Given the description of an element on the screen output the (x, y) to click on. 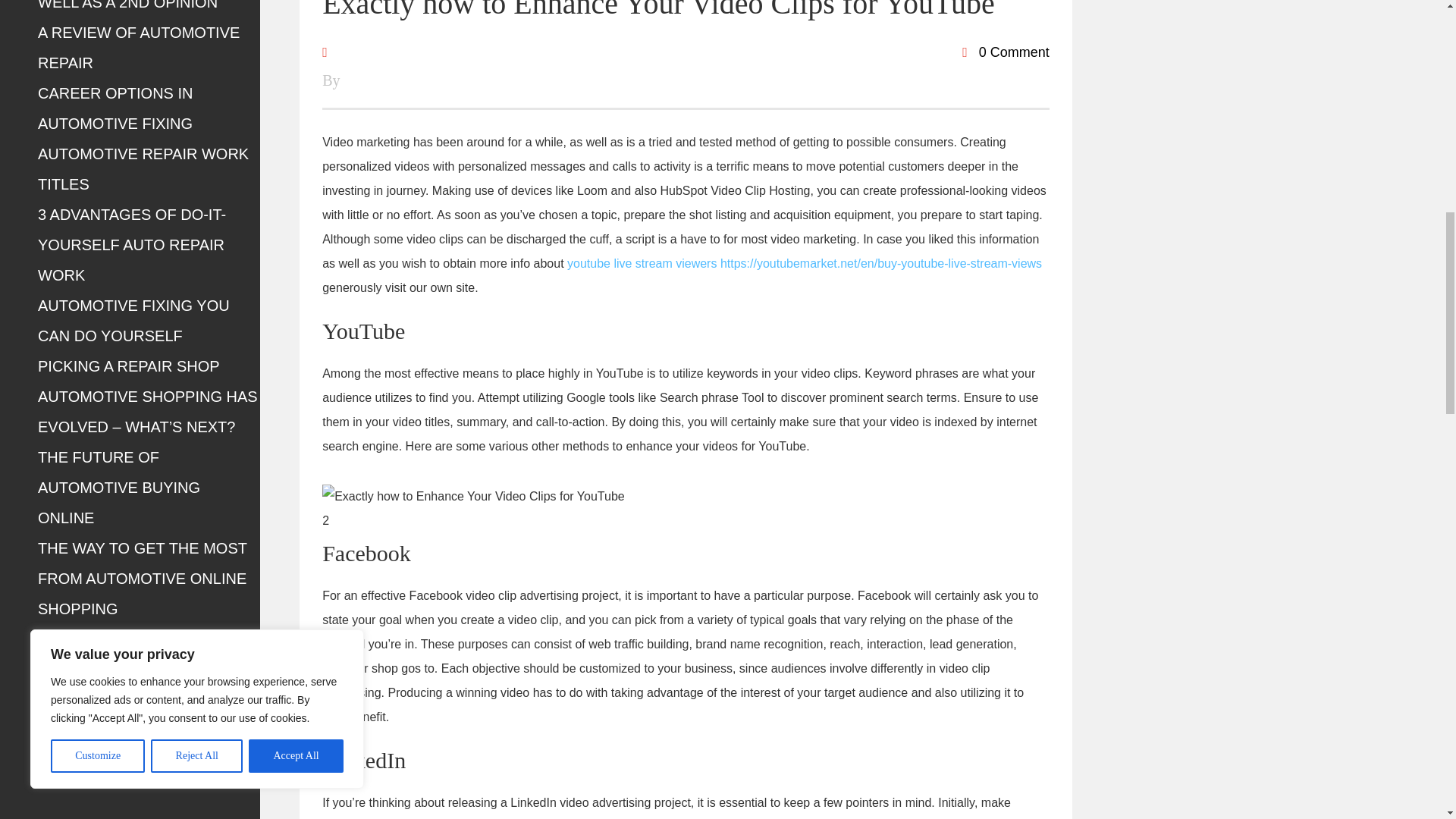
0 Comment (1005, 52)
